Given the description of an element on the screen output the (x, y) to click on. 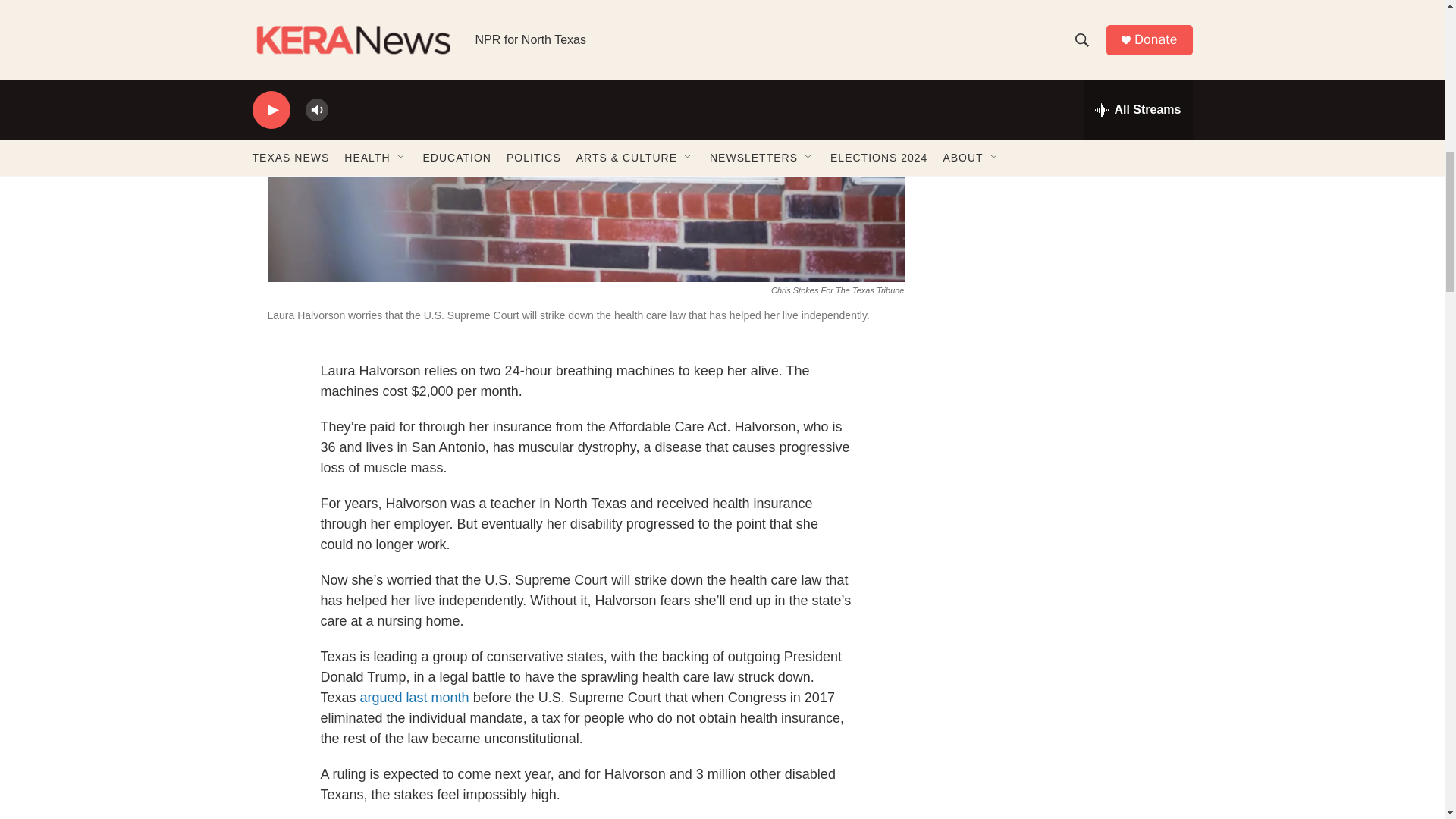
3rd party ad content (1062, 341)
3rd party ad content (1062, 122)
